Given the description of an element on the screen output the (x, y) to click on. 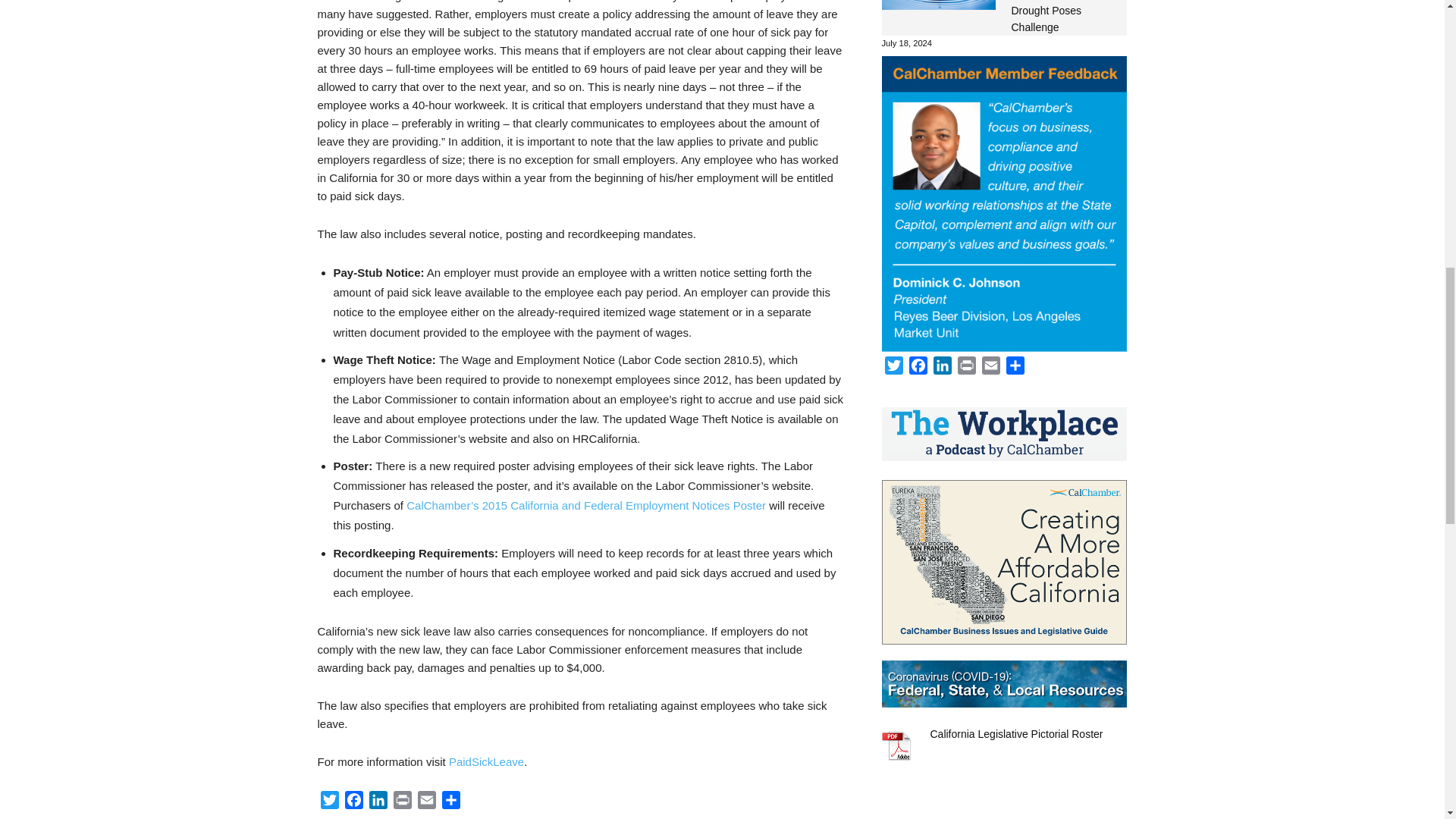
Twitter (328, 802)
Email (425, 802)
Facebook (352, 802)
Print (401, 802)
LinkedIn (377, 802)
